Given the description of an element on the screen output the (x, y) to click on. 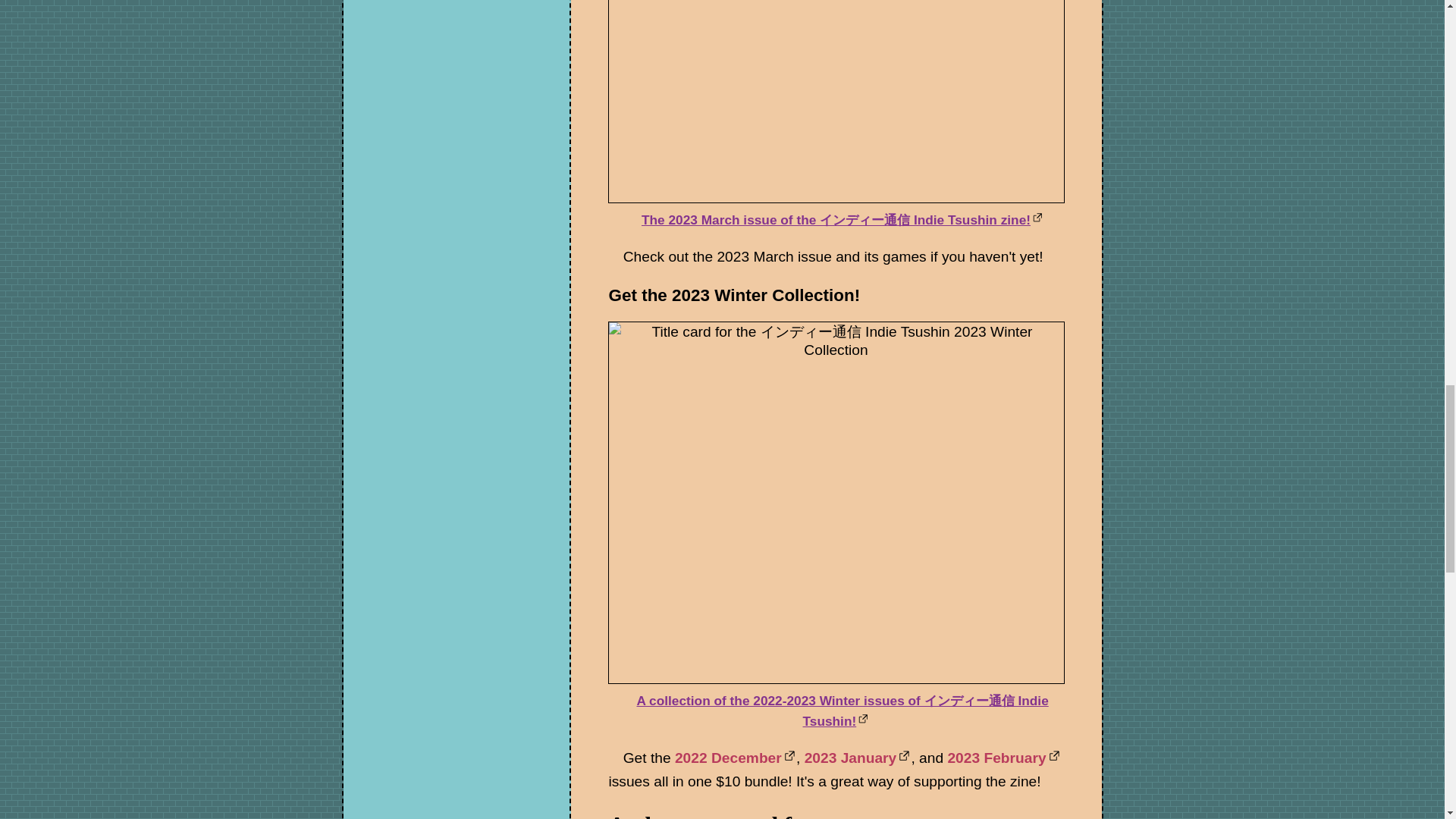
2023 January (858, 757)
2022 December (735, 757)
2023 February (1003, 757)
